Given the description of an element on the screen output the (x, y) to click on. 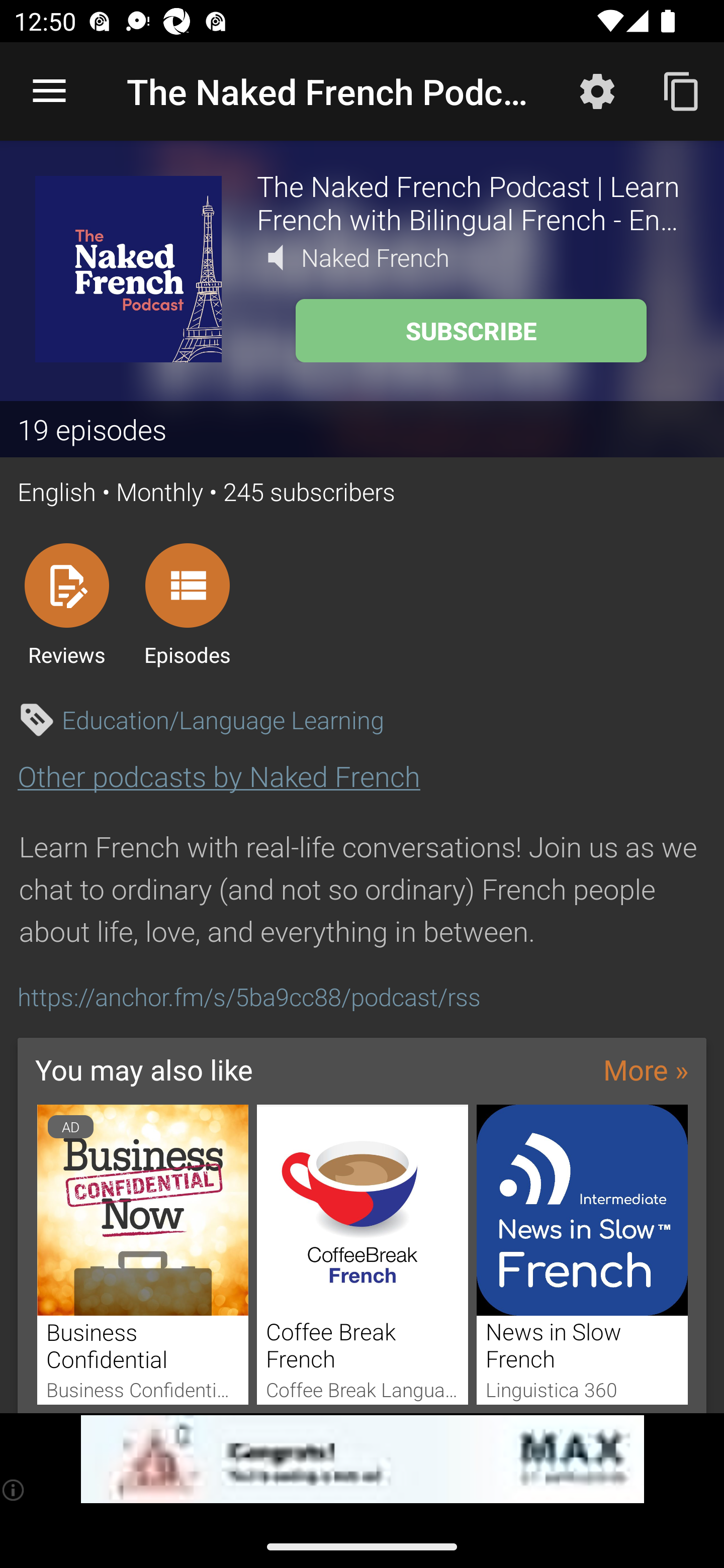
Open navigation sidebar (49, 91)
Settings (597, 90)
Copy feed url to clipboard (681, 90)
SUBSCRIBE (470, 330)
Reviews (66, 604)
Episodes (187, 604)
Other podcasts by Naked French (218, 775)
More » (645, 1069)
Coffee Break French Coffee Break Languages (362, 1253)
News in Slow French Linguistica 360 (581, 1253)
app-monetization (362, 1459)
(i) (14, 1489)
